Given the description of an element on the screen output the (x, y) to click on. 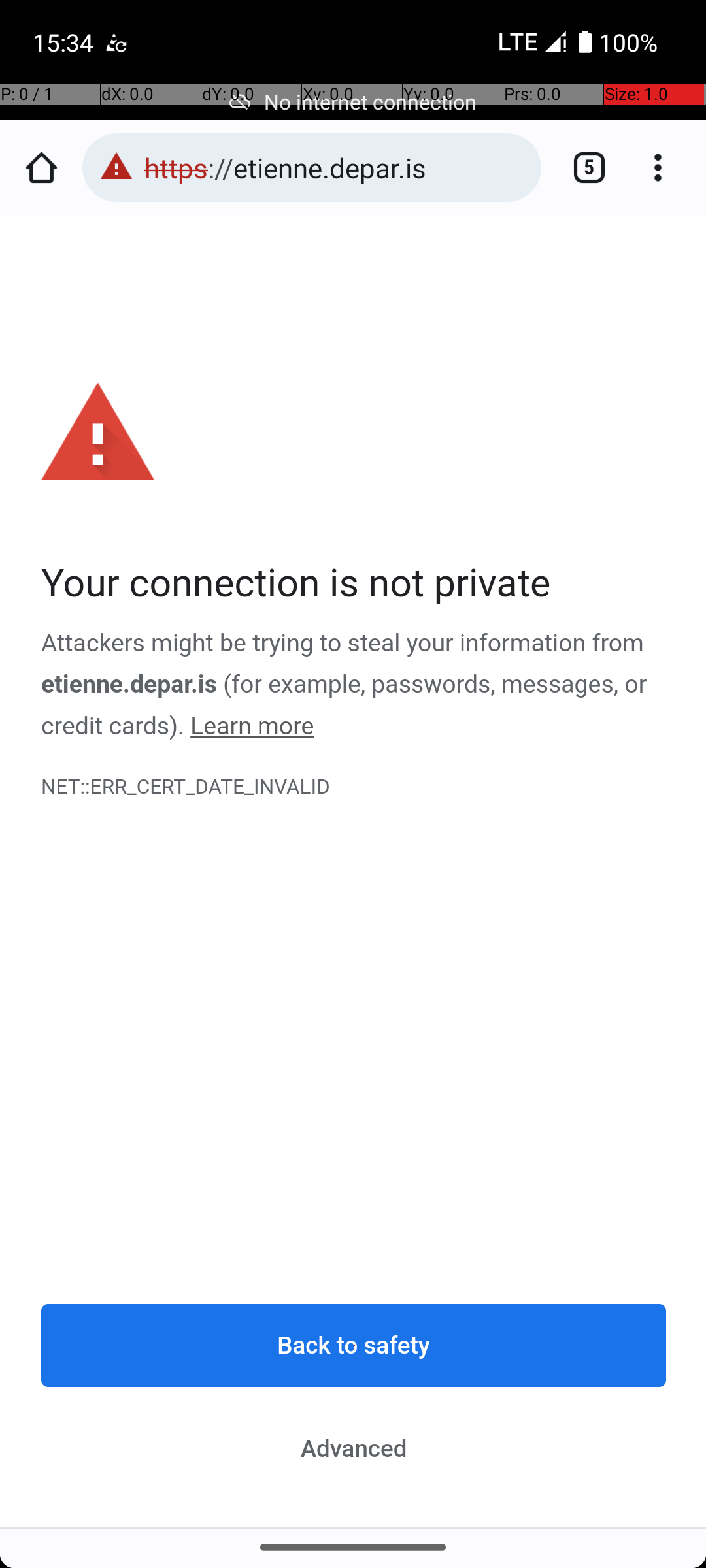
https://etienne.depar.is Element type: android.widget.EditText (335, 167)
etienne.depar.is Element type: android.widget.TextView (129, 684)
